Given the description of an element on the screen output the (x, y) to click on. 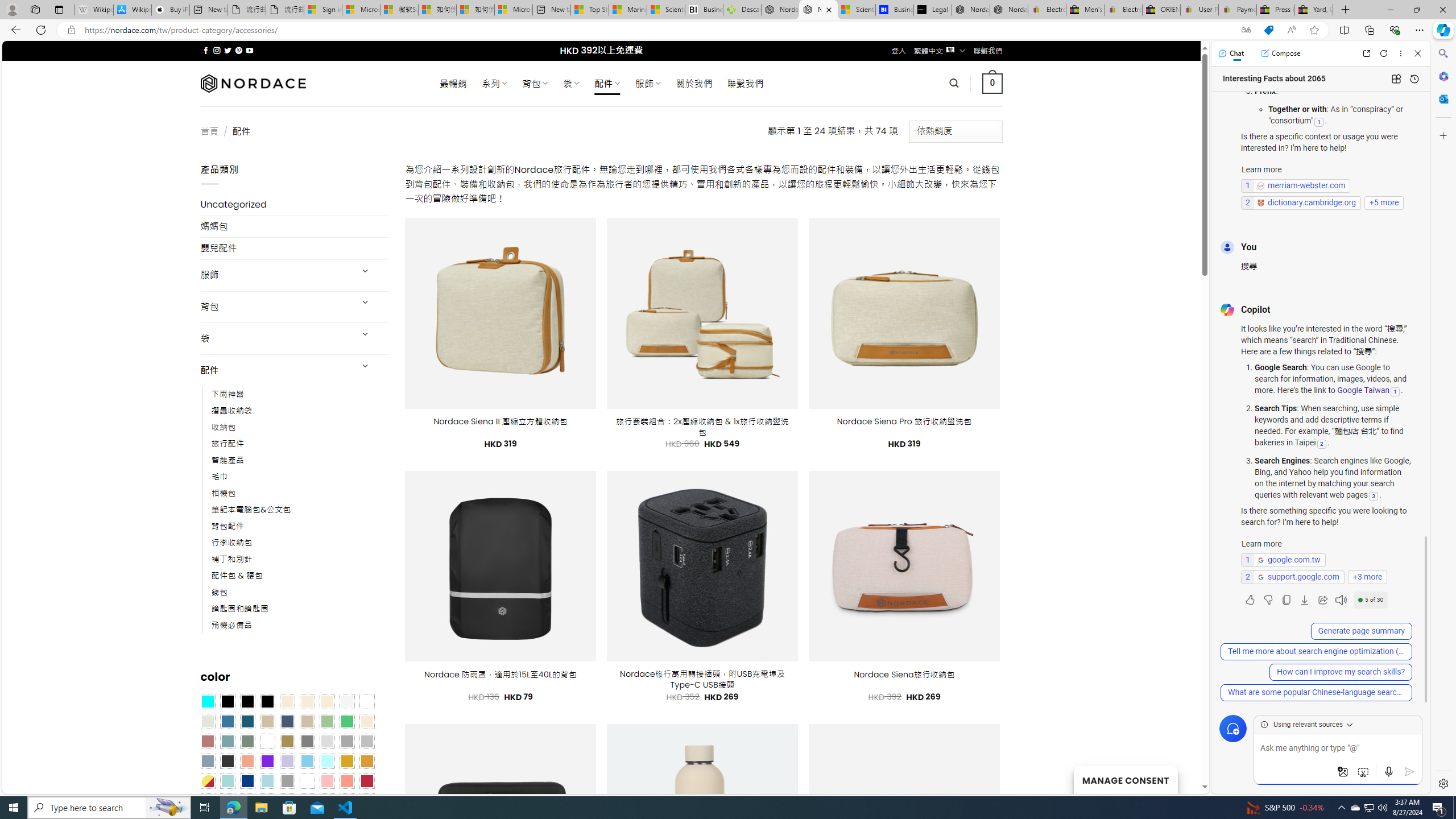
Show translate options (1245, 29)
